Given the description of an element on the screen output the (x, y) to click on. 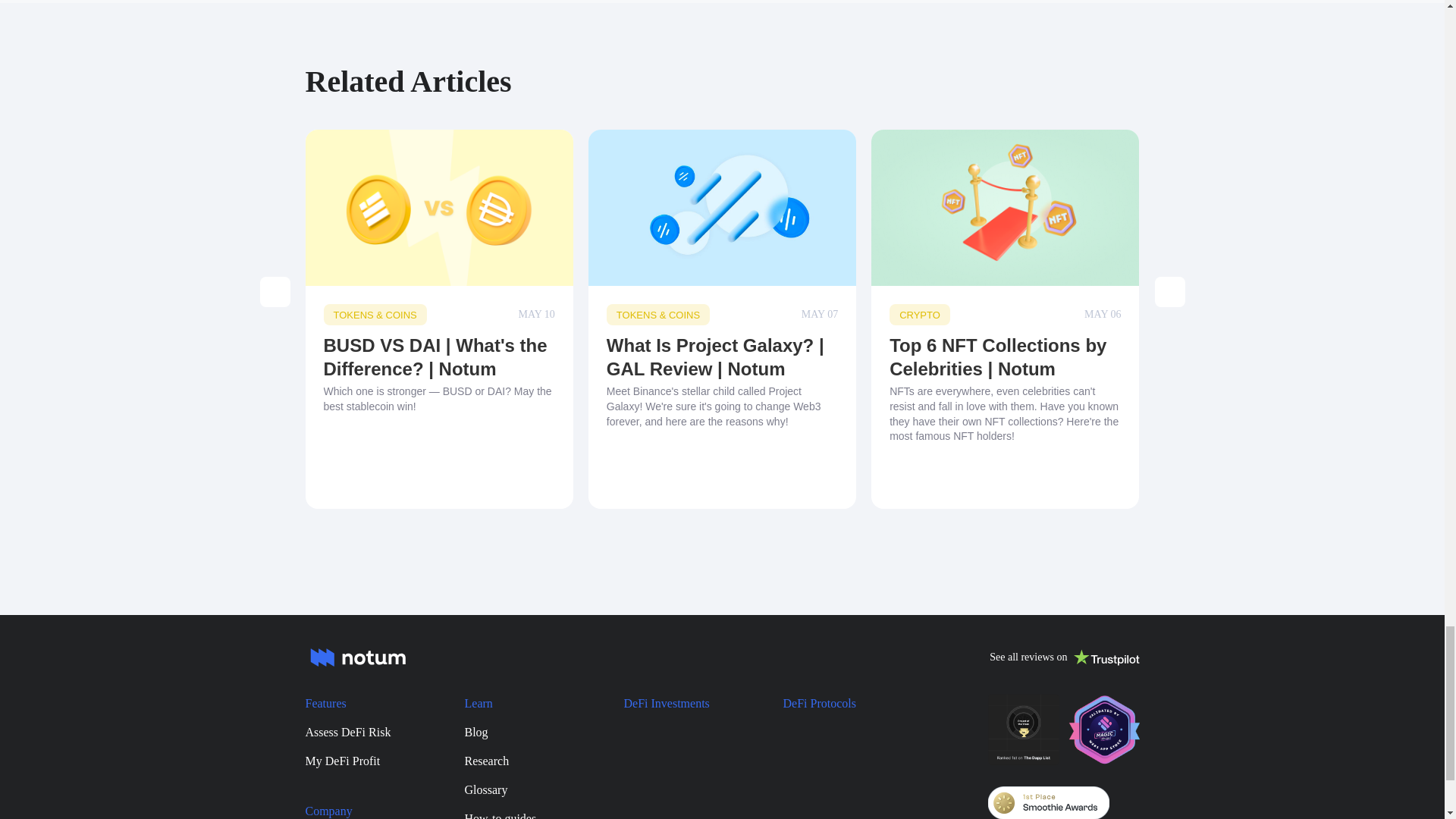
How-to guides (524, 814)
Glossary (524, 790)
My DeFi Profit (365, 761)
Blog (524, 732)
See all reviews on (1064, 657)
Assess DeFi Risk (365, 732)
Research (524, 761)
